Given the description of an element on the screen output the (x, y) to click on. 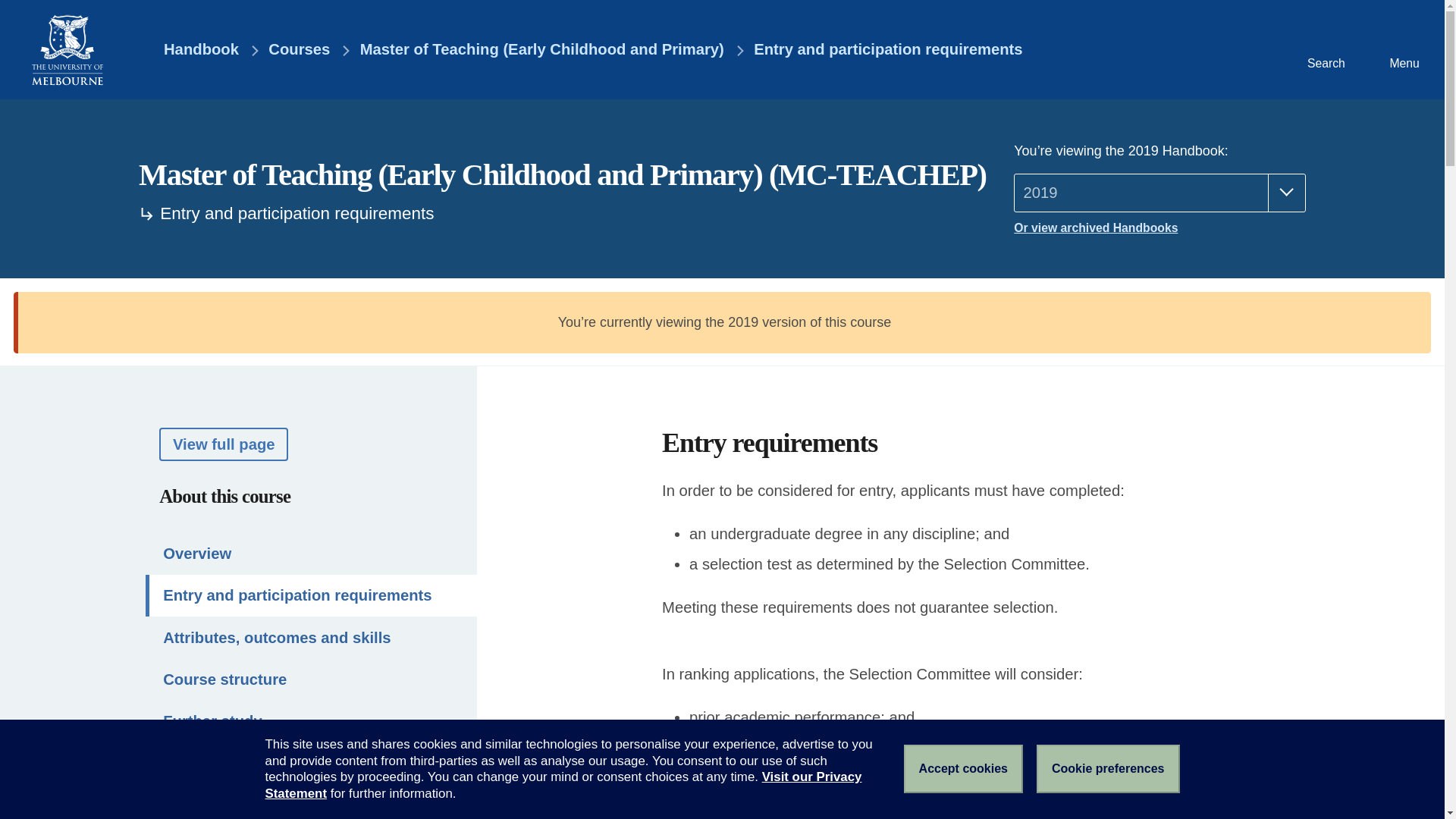
Attributes, outcomes and skills (311, 637)
Or view archived Handbooks (1159, 228)
Search (1324, 49)
rules (1031, 812)
Course structure (311, 679)
Handbook (189, 49)
Search (1324, 49)
Entry and participation requirements (888, 49)
Further study (311, 721)
View full page (223, 443)
Entry and participation requirements (311, 595)
Courses (298, 49)
Overview (311, 553)
